Given the description of an element on the screen output the (x, y) to click on. 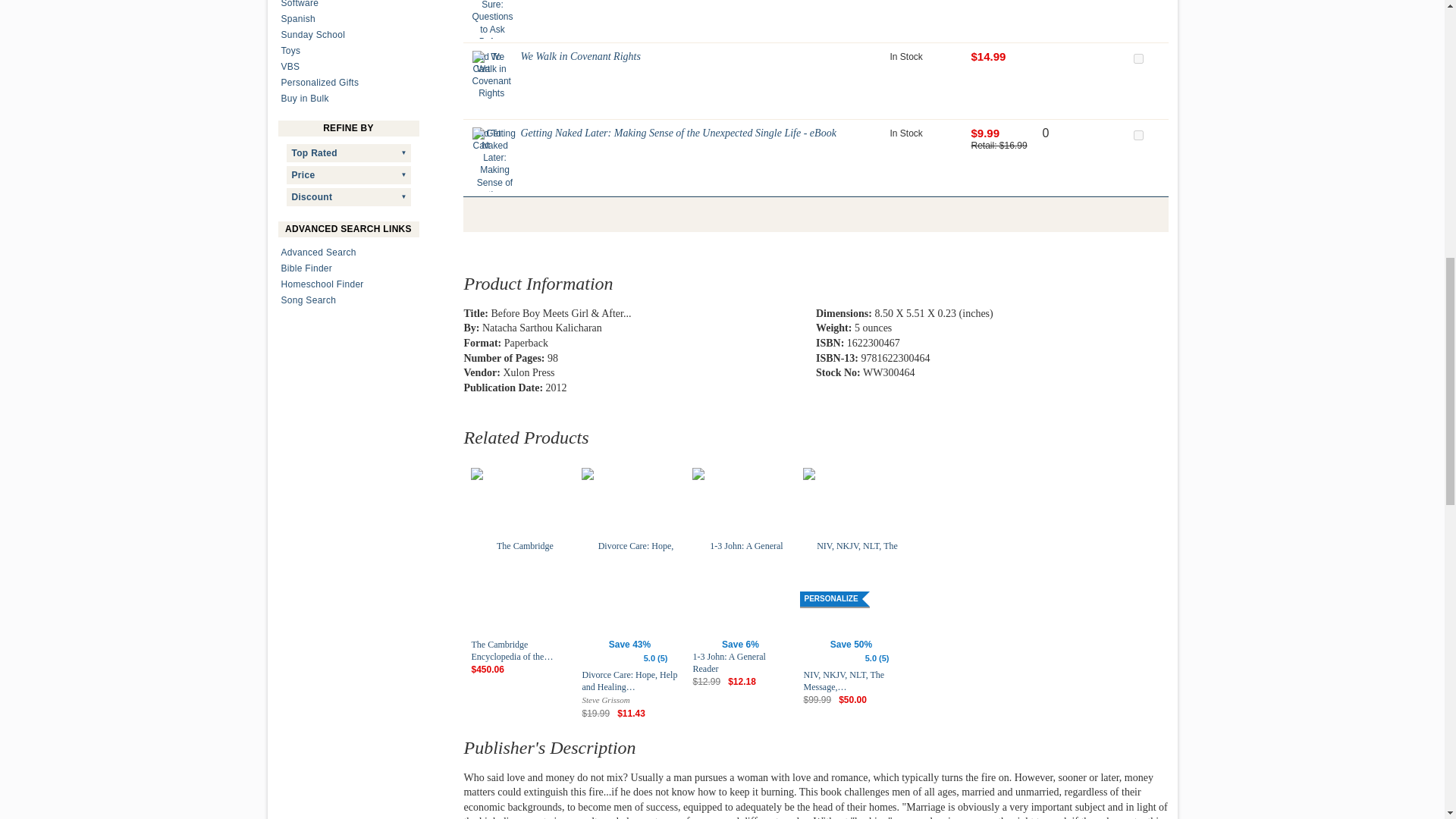
673240 (1137, 58)
How Can I Be Sure: Questions to Ask Before You Get  Married (492, 19)
104914EB (1137, 135)
